Given the description of an element on the screen output the (x, y) to click on. 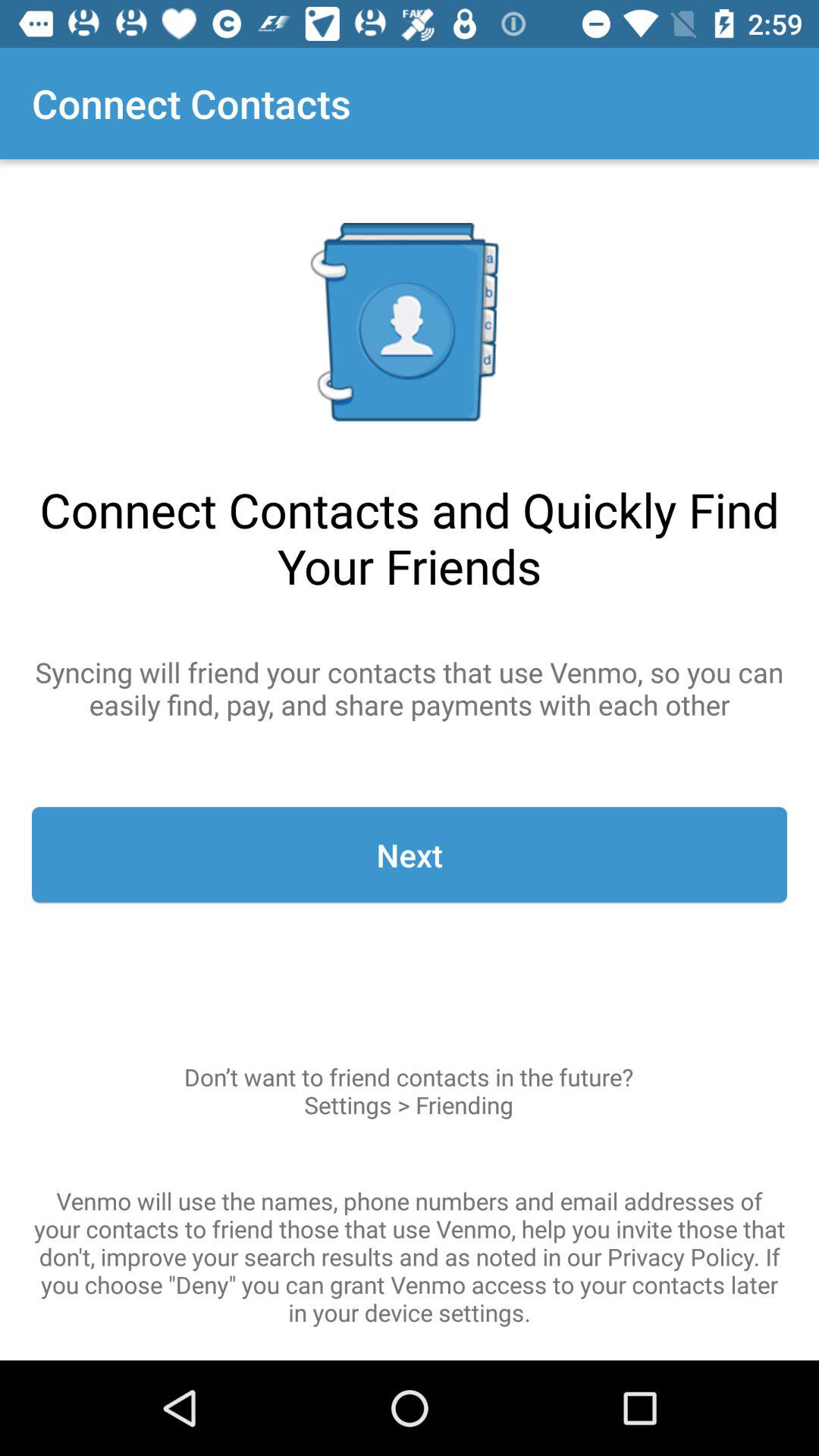
open the icon above the don t want icon (409, 854)
